Given the description of an element on the screen output the (x, y) to click on. 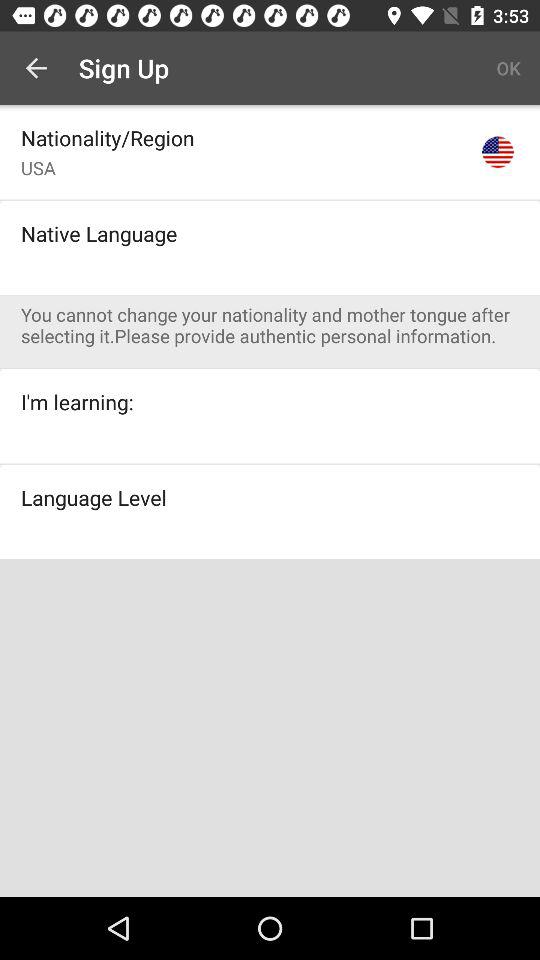
swipe to the i'm learning: icon (77, 401)
